Given the description of an element on the screen output the (x, y) to click on. 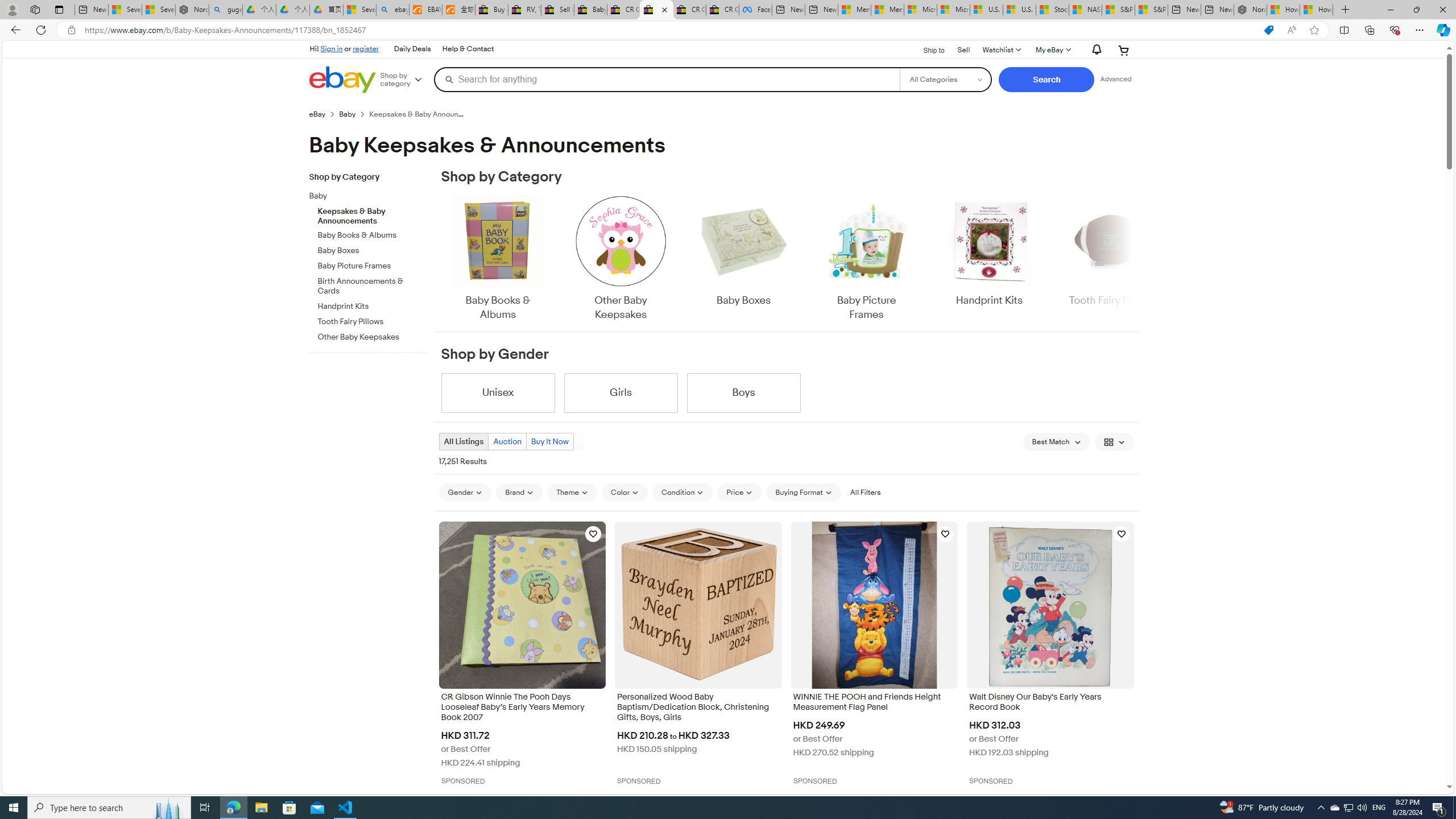
Buying Format (803, 492)
Sign in (331, 48)
Buy It Now (549, 441)
Auction (507, 441)
Tooth Fairy Pillows (371, 319)
guge yunpan - Search (225, 9)
Brand (519, 492)
How to Use a Monitor With Your Closed Laptop (1316, 9)
View: Gallery View (1114, 441)
Buying Format (803, 492)
AutomationID: gh-eb-Alerts (1094, 49)
My eBayExpand My eBay (1052, 49)
